Given the description of an element on the screen output the (x, y) to click on. 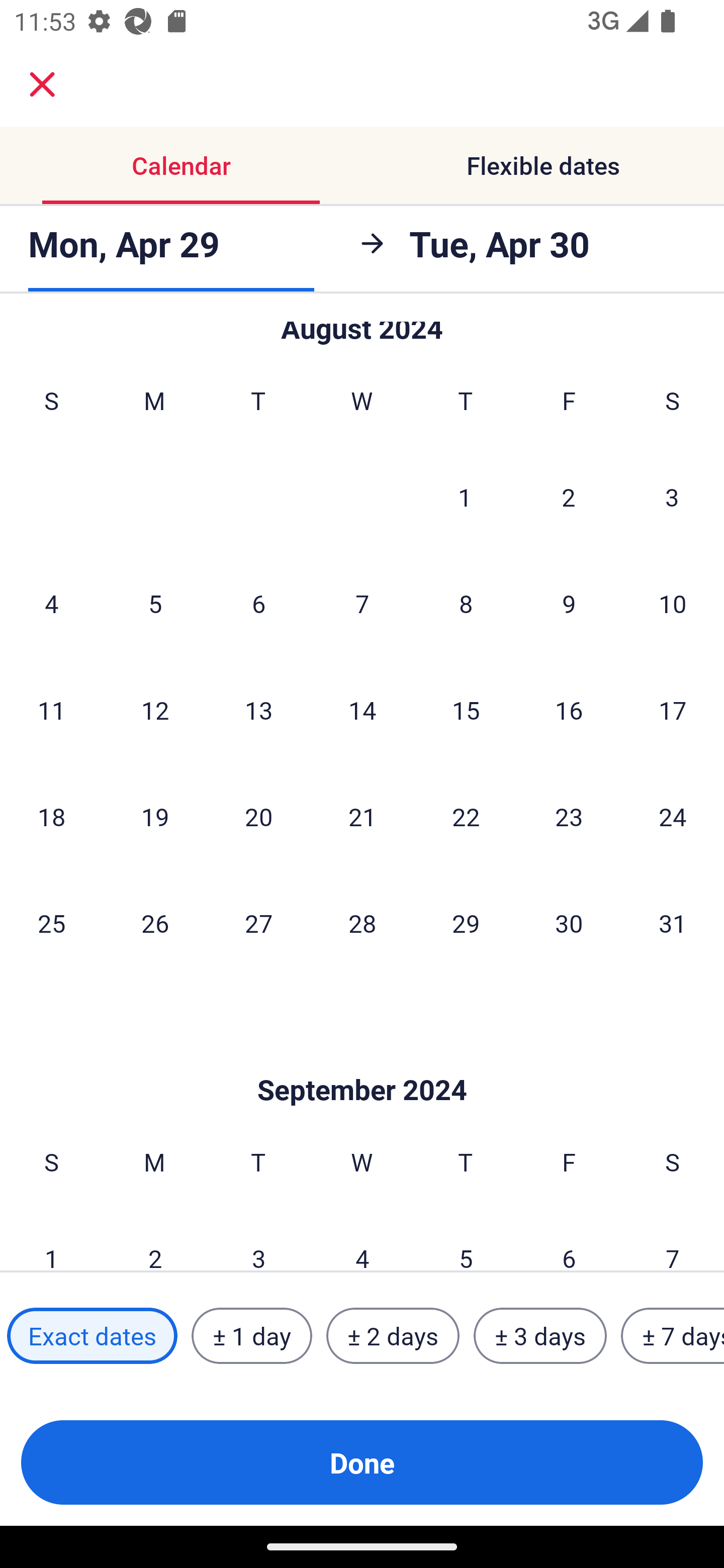
close. (42, 84)
Flexible dates (542, 164)
1 Thursday, August 1, 2024 (464, 496)
2 Friday, August 2, 2024 (568, 496)
3 Saturday, August 3, 2024 (672, 496)
4 Sunday, August 4, 2024 (51, 603)
5 Monday, August 5, 2024 (155, 603)
6 Tuesday, August 6, 2024 (258, 603)
7 Wednesday, August 7, 2024 (362, 603)
8 Thursday, August 8, 2024 (465, 603)
9 Friday, August 9, 2024 (569, 603)
10 Saturday, August 10, 2024 (672, 603)
11 Sunday, August 11, 2024 (51, 710)
12 Monday, August 12, 2024 (155, 710)
13 Tuesday, August 13, 2024 (258, 710)
14 Wednesday, August 14, 2024 (362, 710)
15 Thursday, August 15, 2024 (465, 710)
16 Friday, August 16, 2024 (569, 710)
17 Saturday, August 17, 2024 (672, 710)
18 Sunday, August 18, 2024 (51, 816)
19 Monday, August 19, 2024 (155, 816)
20 Tuesday, August 20, 2024 (258, 816)
21 Wednesday, August 21, 2024 (362, 816)
22 Thursday, August 22, 2024 (465, 816)
23 Friday, August 23, 2024 (569, 816)
24 Saturday, August 24, 2024 (672, 816)
25 Sunday, August 25, 2024 (51, 922)
26 Monday, August 26, 2024 (155, 922)
27 Tuesday, August 27, 2024 (258, 922)
28 Wednesday, August 28, 2024 (362, 922)
29 Thursday, August 29, 2024 (465, 922)
30 Friday, August 30, 2024 (569, 922)
31 Saturday, August 31, 2024 (672, 922)
Skip to Done (362, 1059)
1 Sunday, September 1, 2024 (51, 1238)
2 Monday, September 2, 2024 (155, 1238)
3 Tuesday, September 3, 2024 (258, 1238)
4 Wednesday, September 4, 2024 (362, 1238)
5 Thursday, September 5, 2024 (465, 1238)
6 Friday, September 6, 2024 (569, 1238)
7 Saturday, September 7, 2024 (672, 1238)
Exact dates (92, 1335)
± 1 day (251, 1335)
± 2 days (392, 1335)
± 3 days (539, 1335)
± 7 days (672, 1335)
Done (361, 1462)
